Given the description of an element on the screen output the (x, y) to click on. 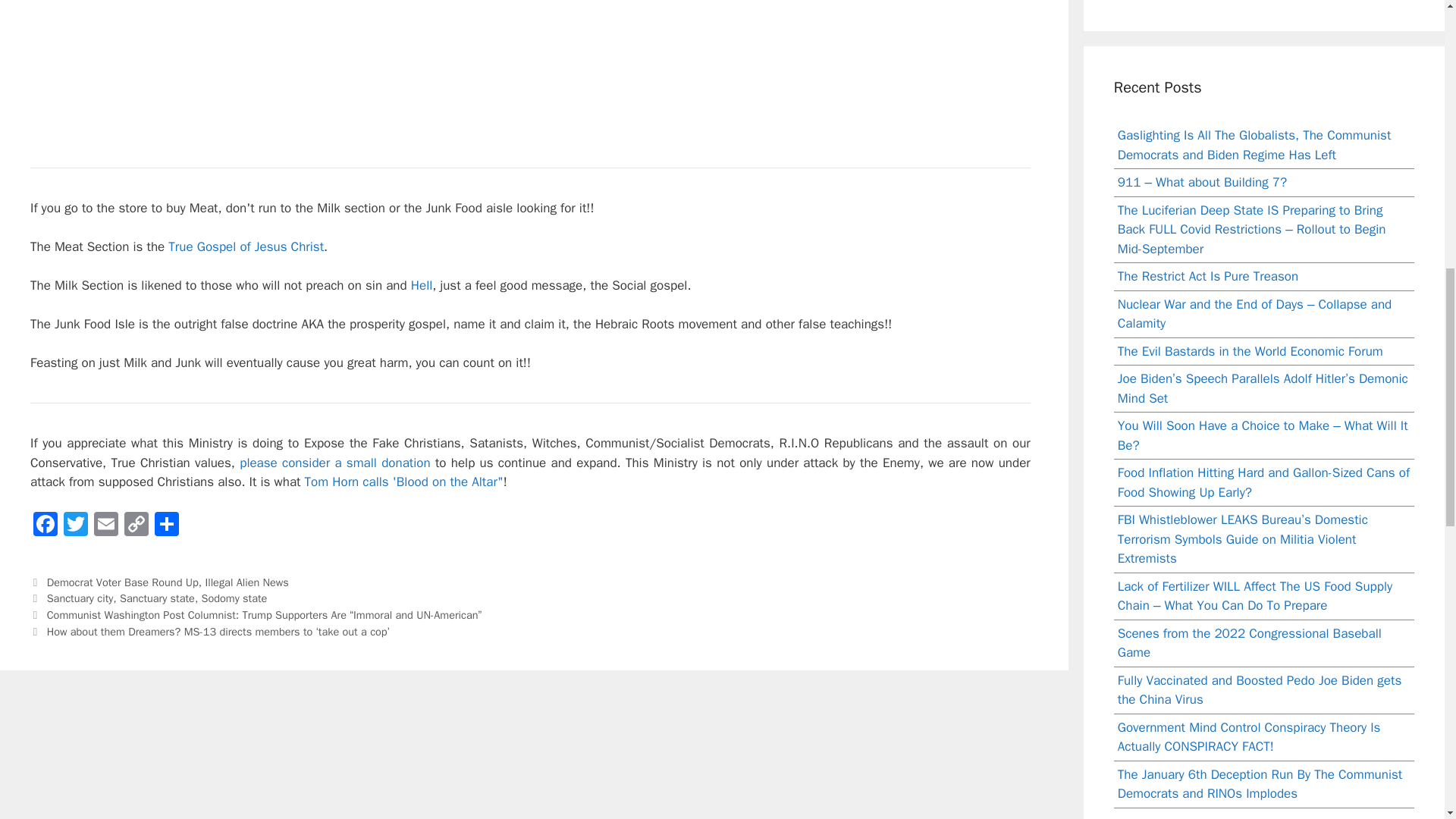
Copy Link (135, 525)
Email (105, 525)
Share (166, 525)
Facebook (45, 525)
Twitter (75, 525)
Tom Horn calls 'Blood on the Altar" (403, 481)
please consider a small donation (334, 462)
Democrat Voter Base Round Up (122, 581)
Hell (421, 285)
True Gospel of Jesus Christ (245, 246)
